Given the description of an element on the screen output the (x, y) to click on. 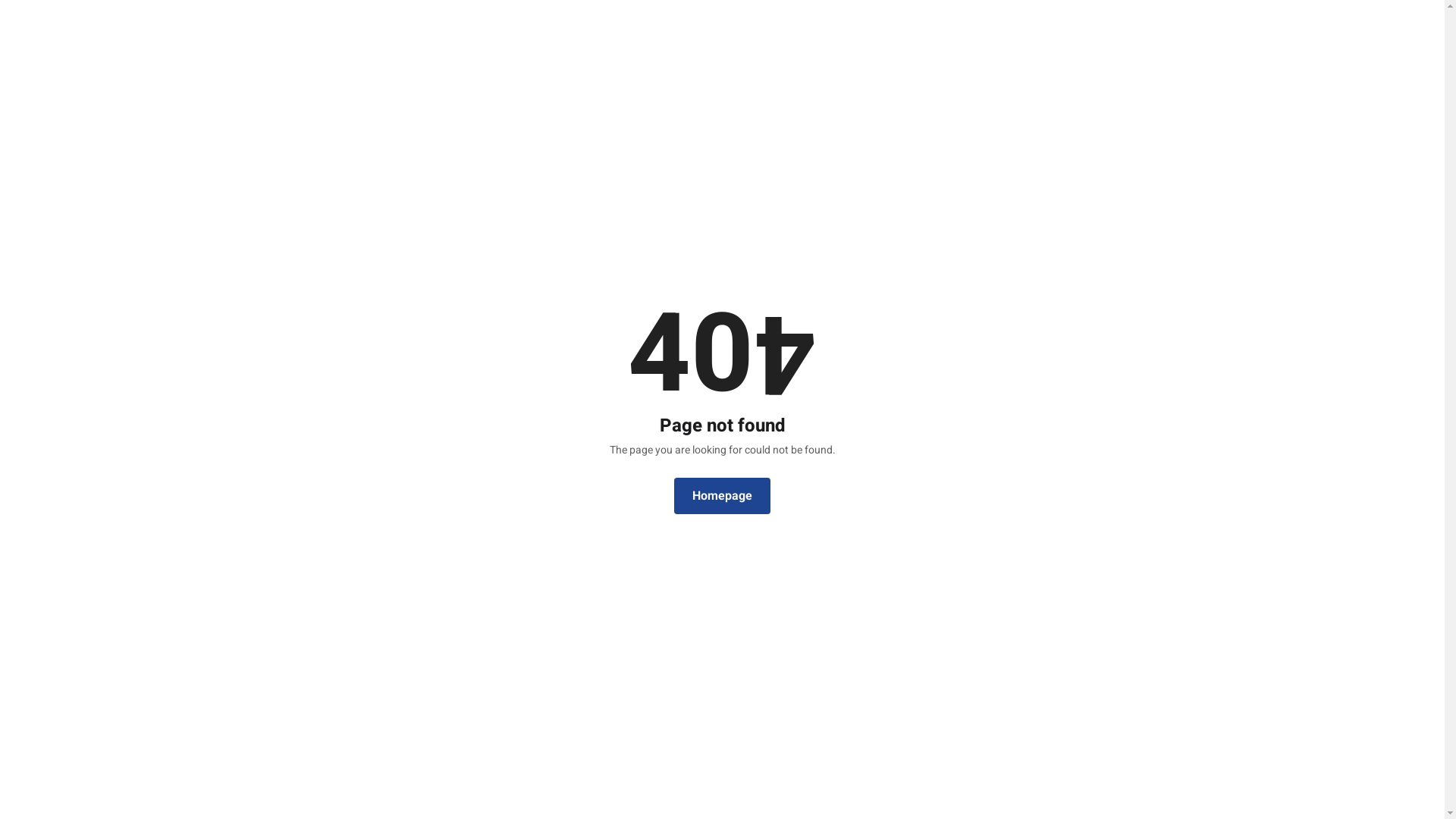
Homepage Element type: text (722, 495)
